Given the description of an element on the screen output the (x, y) to click on. 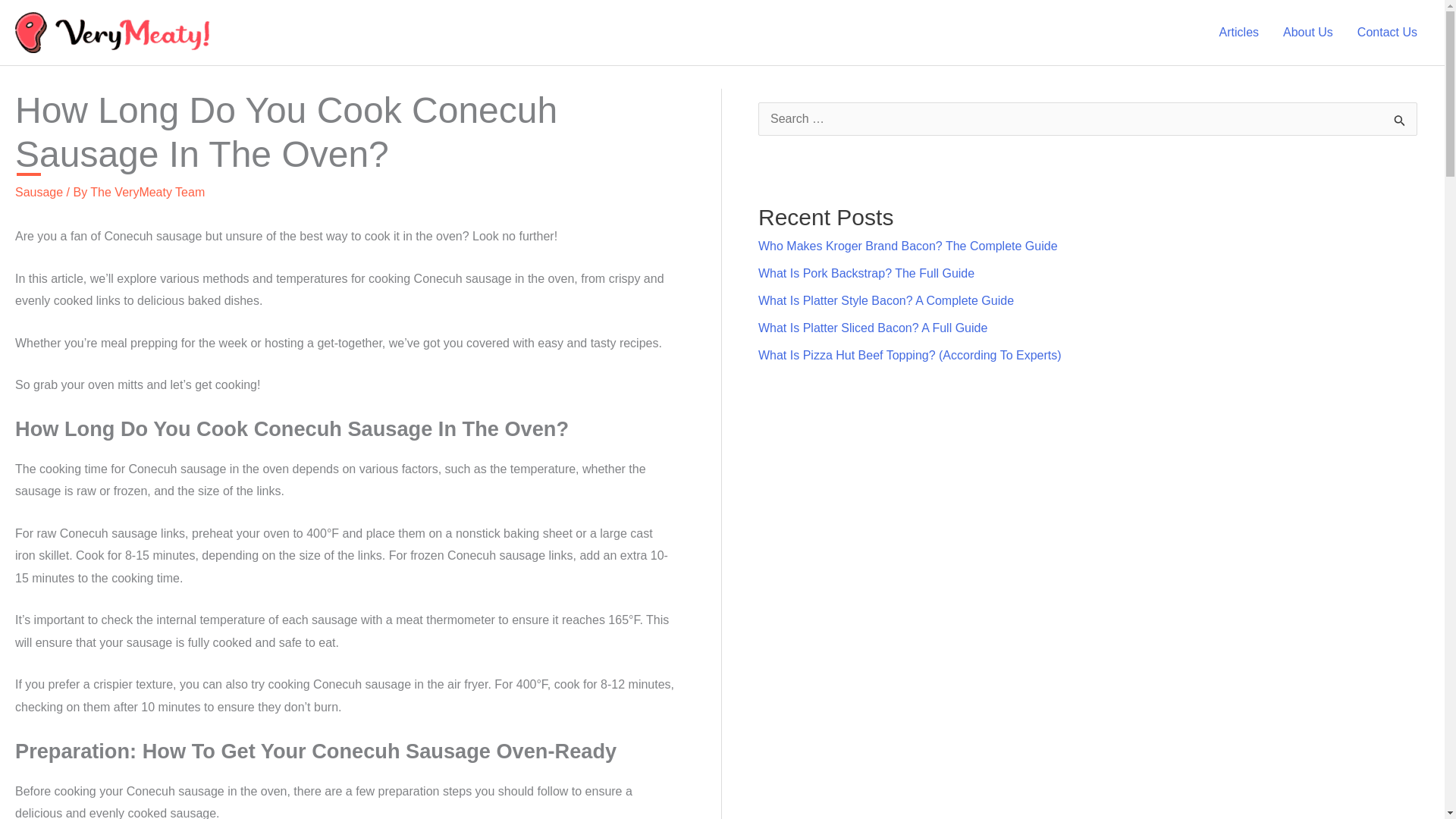
What Is Platter Style Bacon? A Complete Guide (885, 300)
Articles (1239, 31)
Who Makes Kroger Brand Bacon? The Complete Guide (908, 245)
Sausage (38, 192)
The VeryMeaty Team (147, 192)
What Is Pork Backstrap? The Full Guide (866, 273)
Contact Us (1387, 31)
View all posts by The VeryMeaty Team (147, 192)
About Us (1308, 31)
What Is Platter Sliced Bacon? A Full Guide (872, 327)
